Given the description of an element on the screen output the (x, y) to click on. 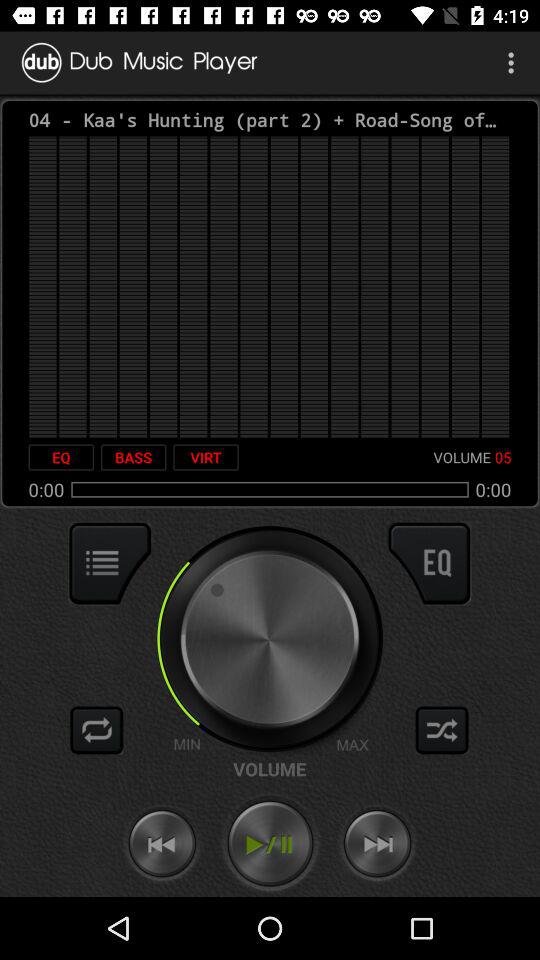
turn on the item next to the  bass  icon (205, 457)
